Given the description of an element on the screen output the (x, y) to click on. 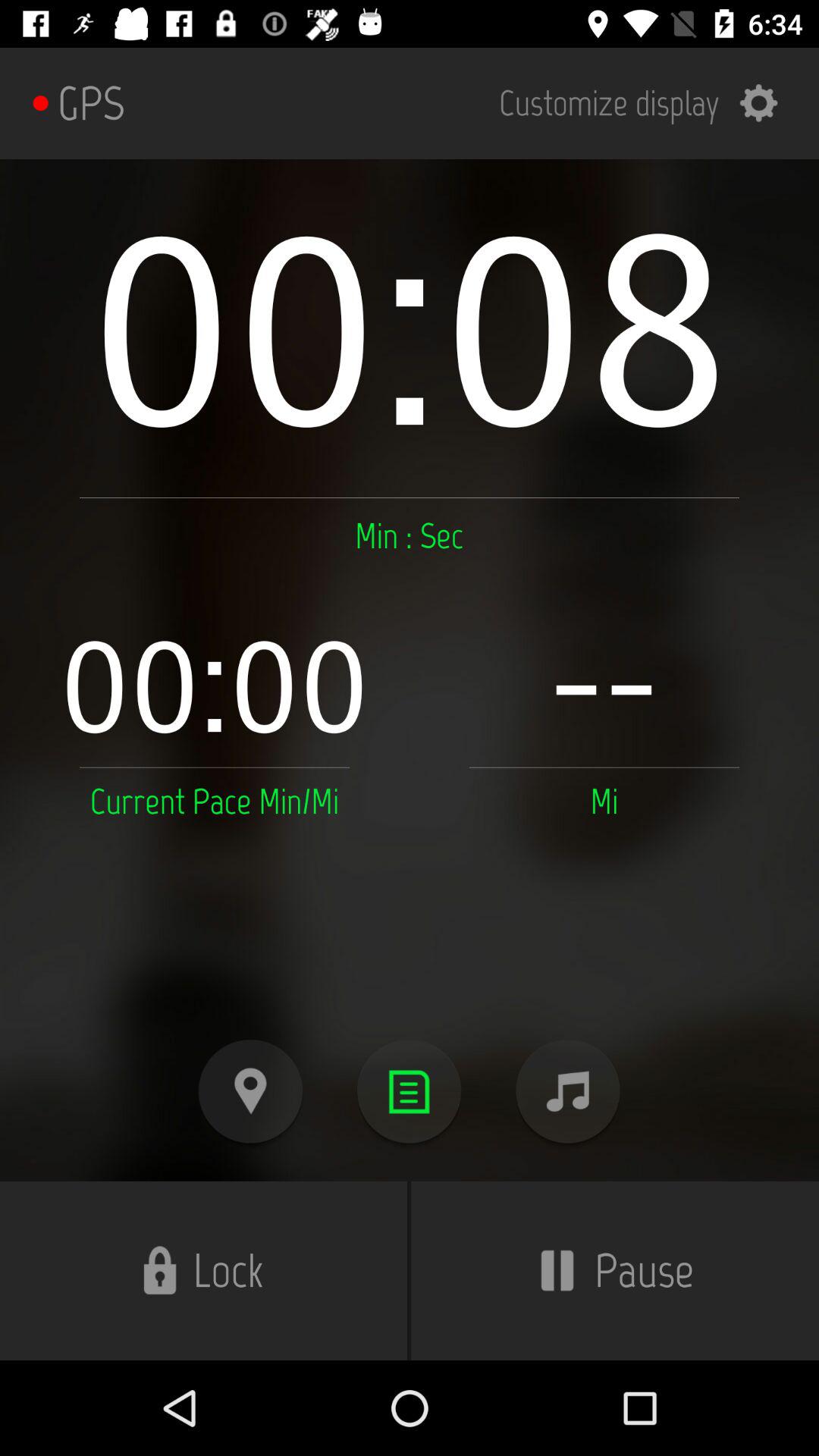
tap the icon at the top right corner (648, 103)
